Given the description of an element on the screen output the (x, y) to click on. 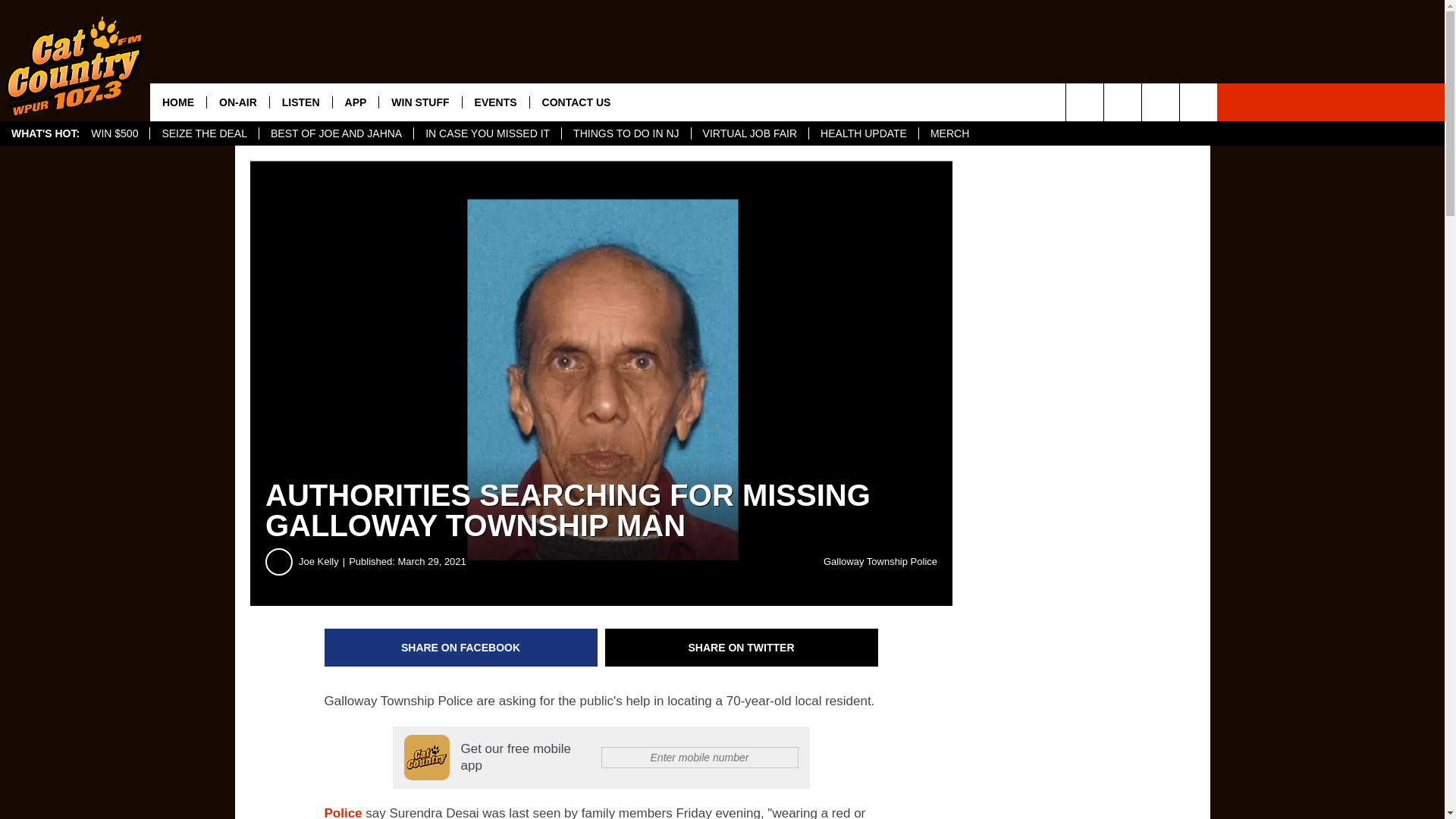
Share on Facebook (460, 647)
IN CASE YOU MISSED IT (486, 133)
HOME (177, 102)
APP (354, 102)
LISTEN (300, 102)
SEIZE THE DEAL (204, 133)
HEALTH UPDATE (863, 133)
ON-AIR (237, 102)
BEST OF JOE AND JAHNA (336, 133)
WIN STUFF (419, 102)
